Given the description of an element on the screen output the (x, y) to click on. 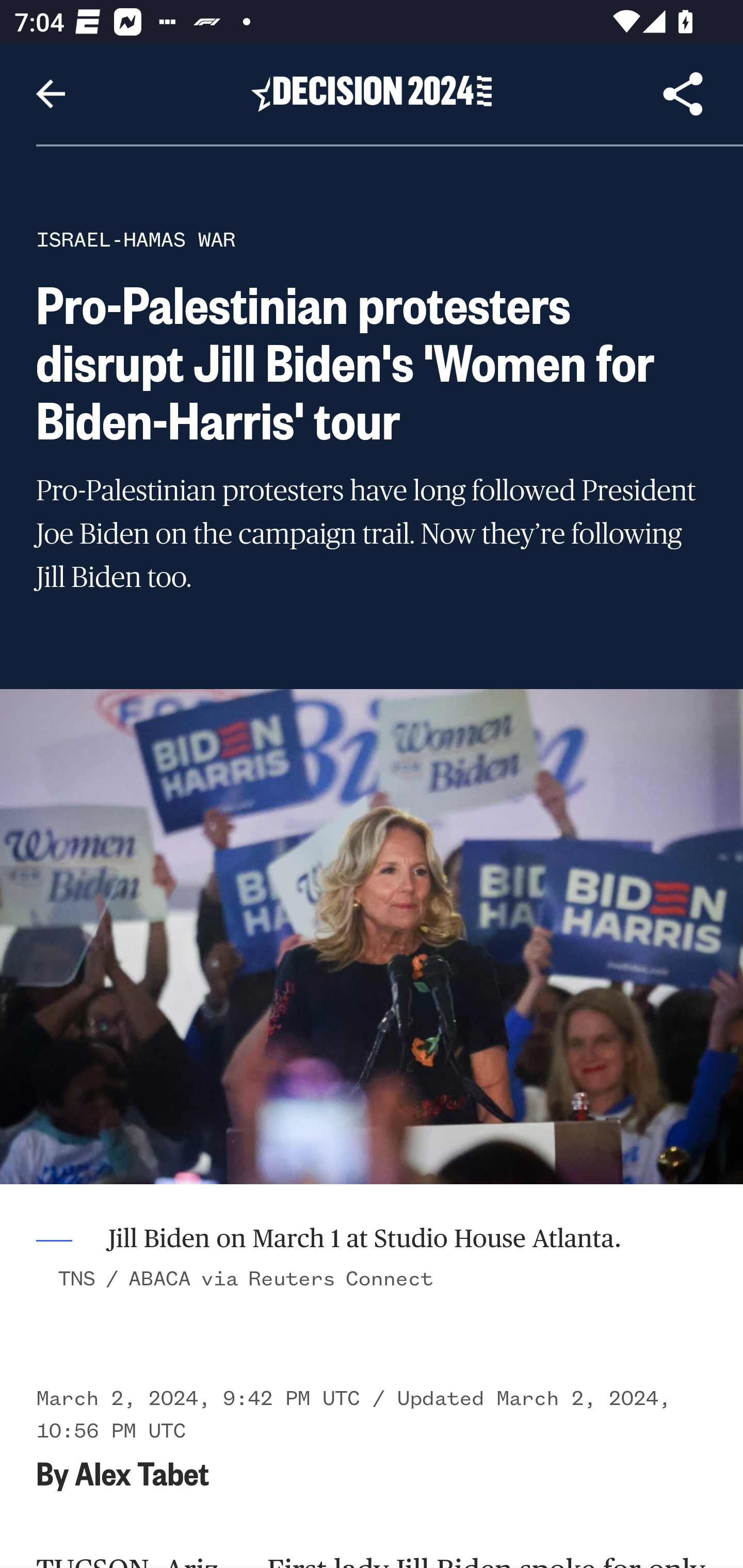
Navigate up (50, 93)
Share Article, button (683, 94)
Header, Decision 2024 (371, 93)
ISRAEL-HAMAS WAR (136, 239)
